Given the description of an element on the screen output the (x, y) to click on. 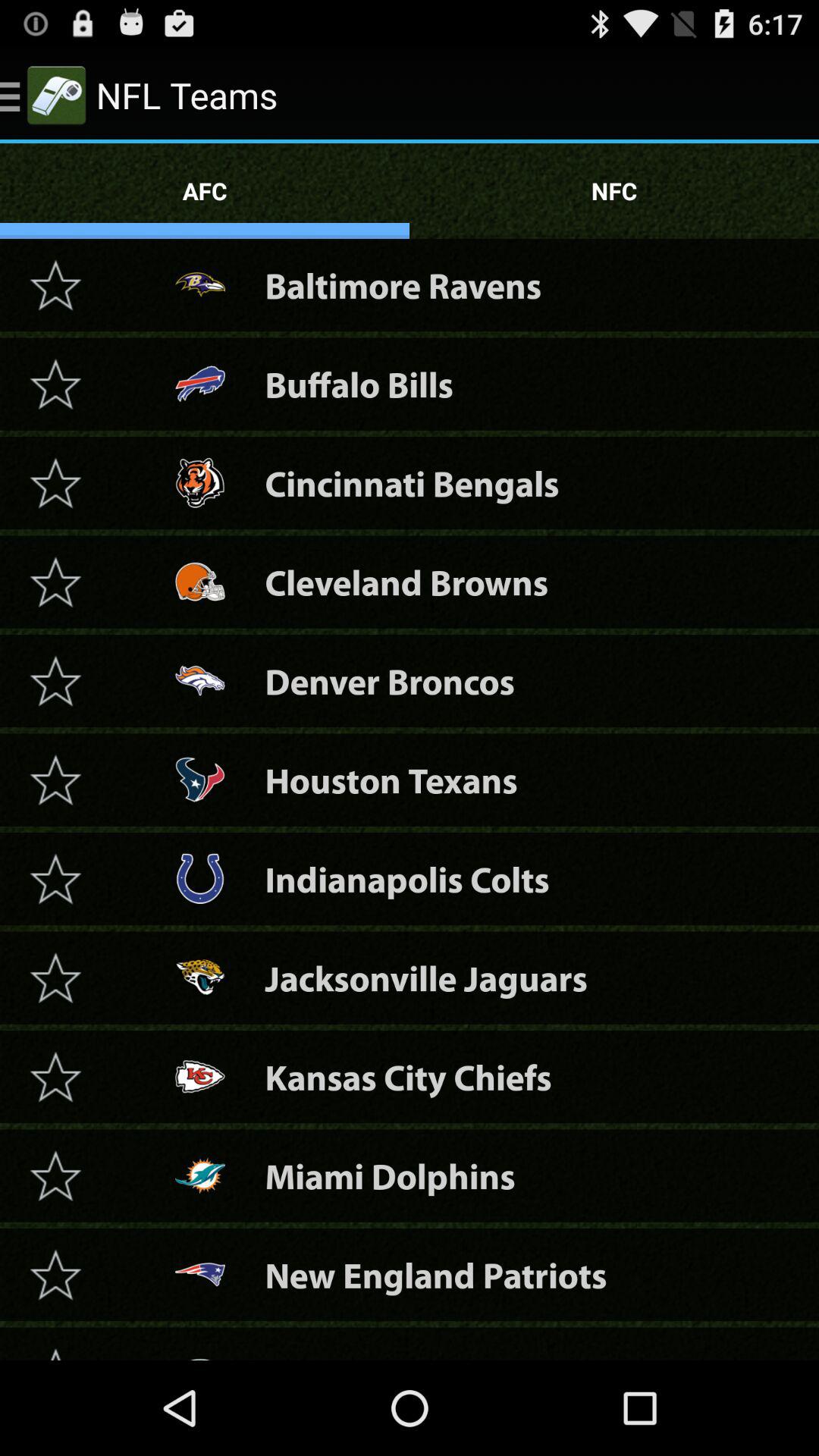
bookmark team (55, 680)
